Given the description of an element on the screen output the (x, y) to click on. 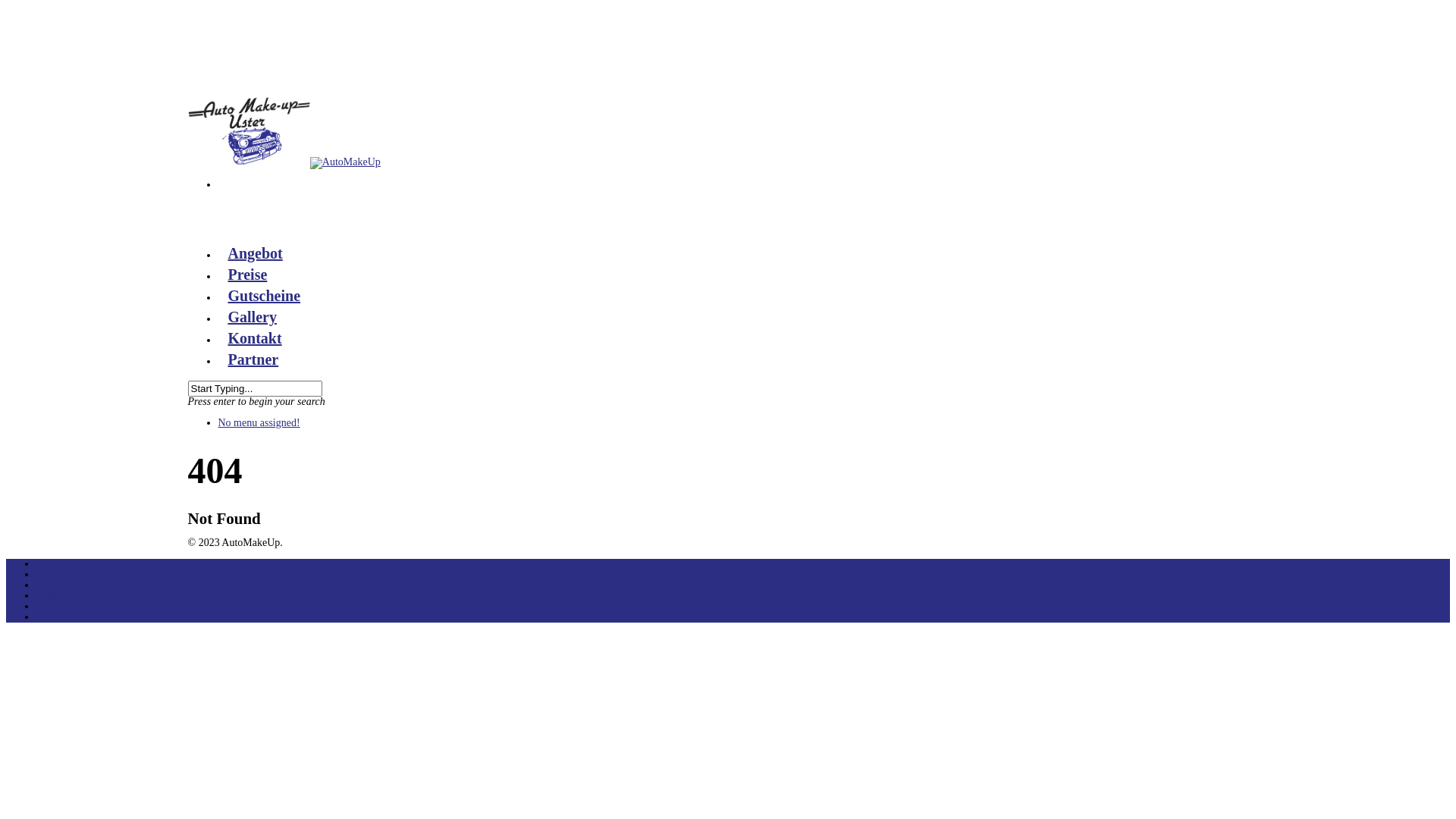
Angebot Element type: text (254, 256)
No menu assigned! Element type: text (259, 422)
Kontakt Element type: text (53, 605)
Gutscheine Element type: text (263, 299)
Preise Element type: text (246, 277)
Preise Element type: text (49, 574)
Gallery Element type: text (52, 595)
Angebot Element type: text (54, 563)
Partner Element type: text (51, 616)
Partner Element type: text (252, 362)
Gutscheine Element type: text (60, 584)
Kontakt Element type: text (254, 341)
Gallery Element type: text (251, 320)
